Given the description of an element on the screen output the (x, y) to click on. 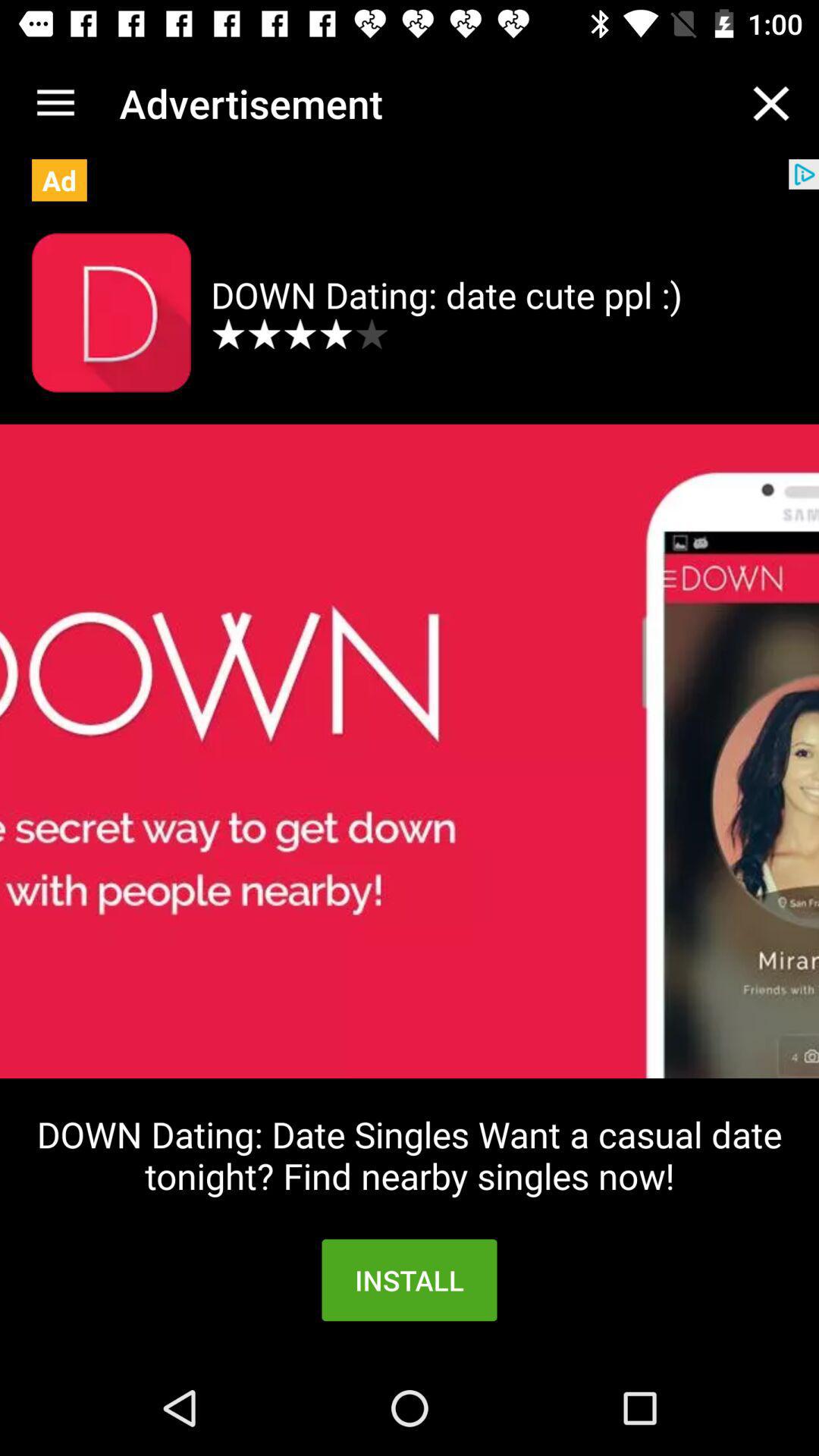
launch app to the left of advertisement (55, 103)
